Given the description of an element on the screen output the (x, y) to click on. 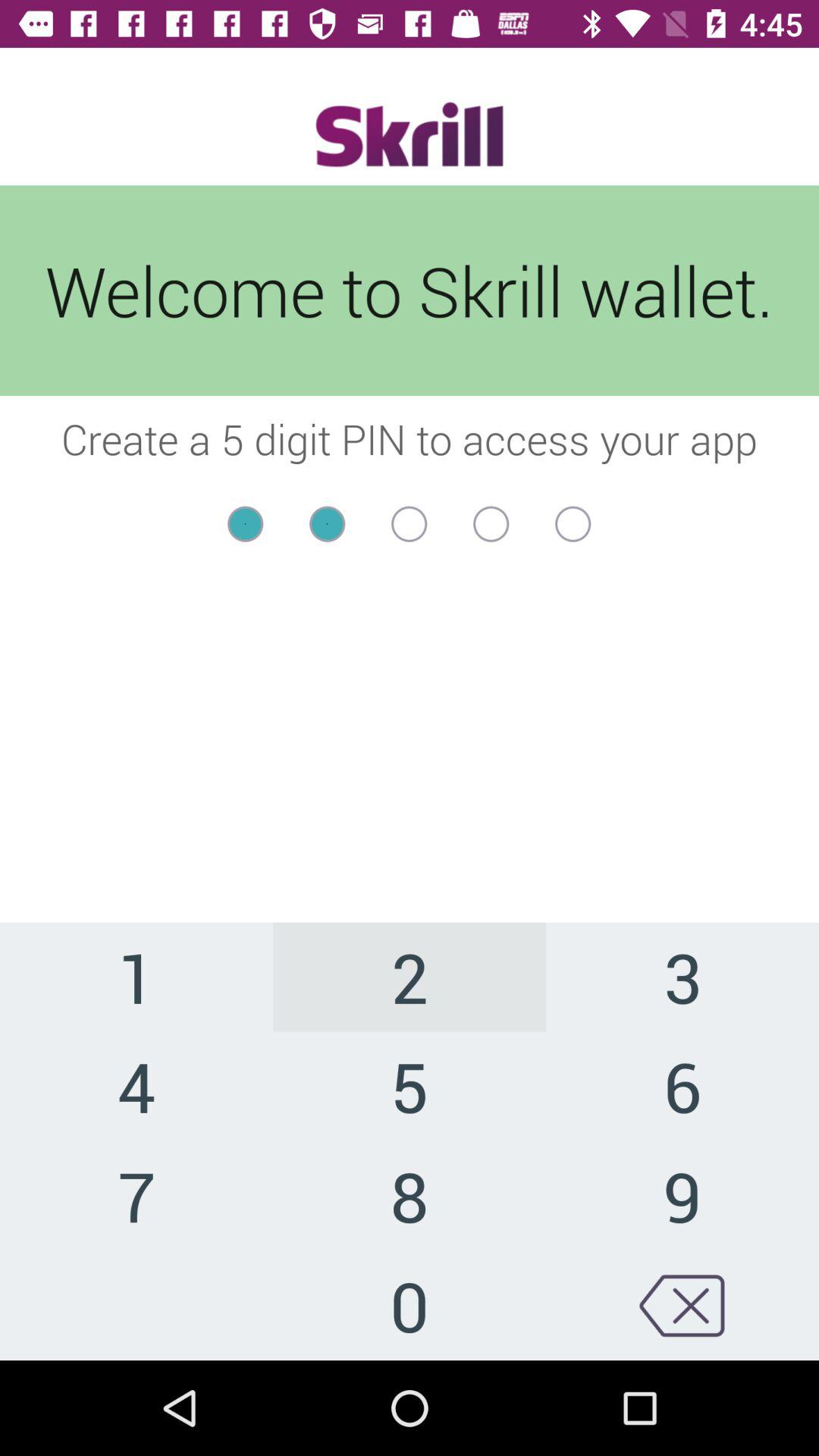
scroll until 7 icon (136, 1195)
